Given the description of an element on the screen output the (x, y) to click on. 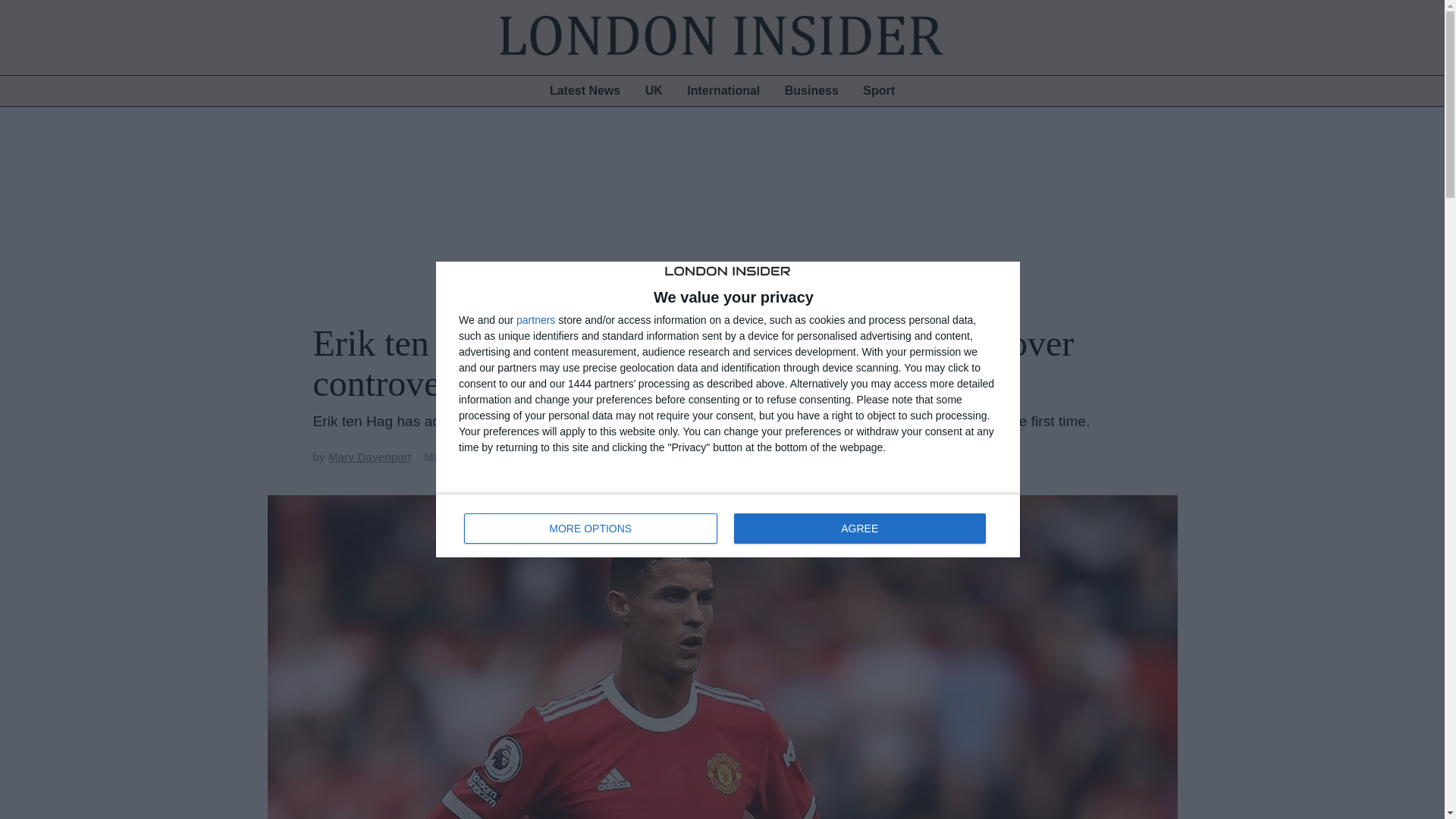
Mary Davenport (369, 457)
International (723, 91)
Sport (878, 91)
Latest News (584, 91)
Business (811, 91)
AGREE (859, 528)
MORE OPTIONS (590, 528)
UK (653, 91)
partners (727, 525)
